Given the description of an element on the screen output the (x, y) to click on. 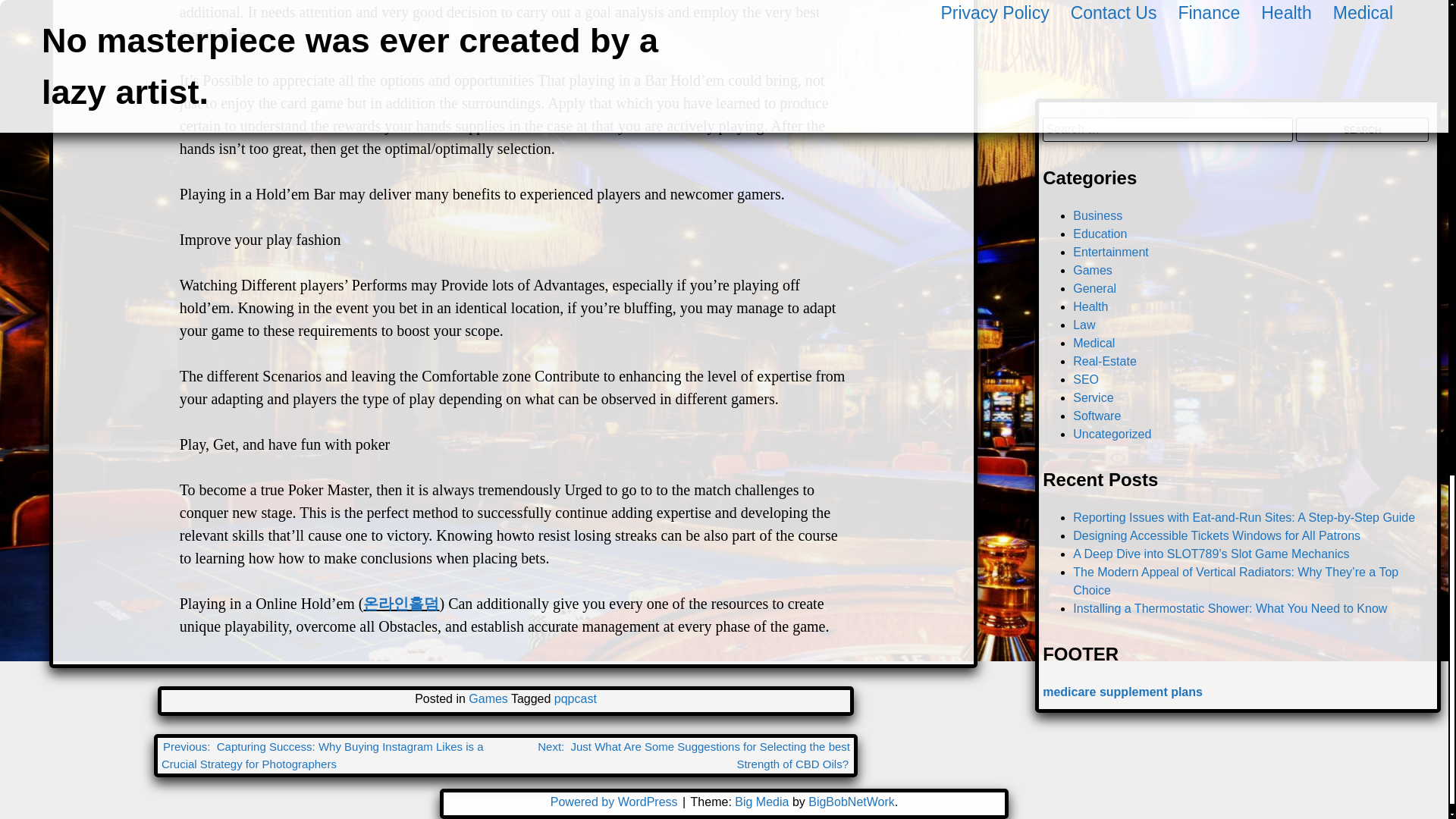
pqpcast (575, 698)
Powered by WordPress (615, 801)
Games (488, 698)
BigBobNetWork (851, 801)
Big Media (762, 801)
